Given the description of an element on the screen output the (x, y) to click on. 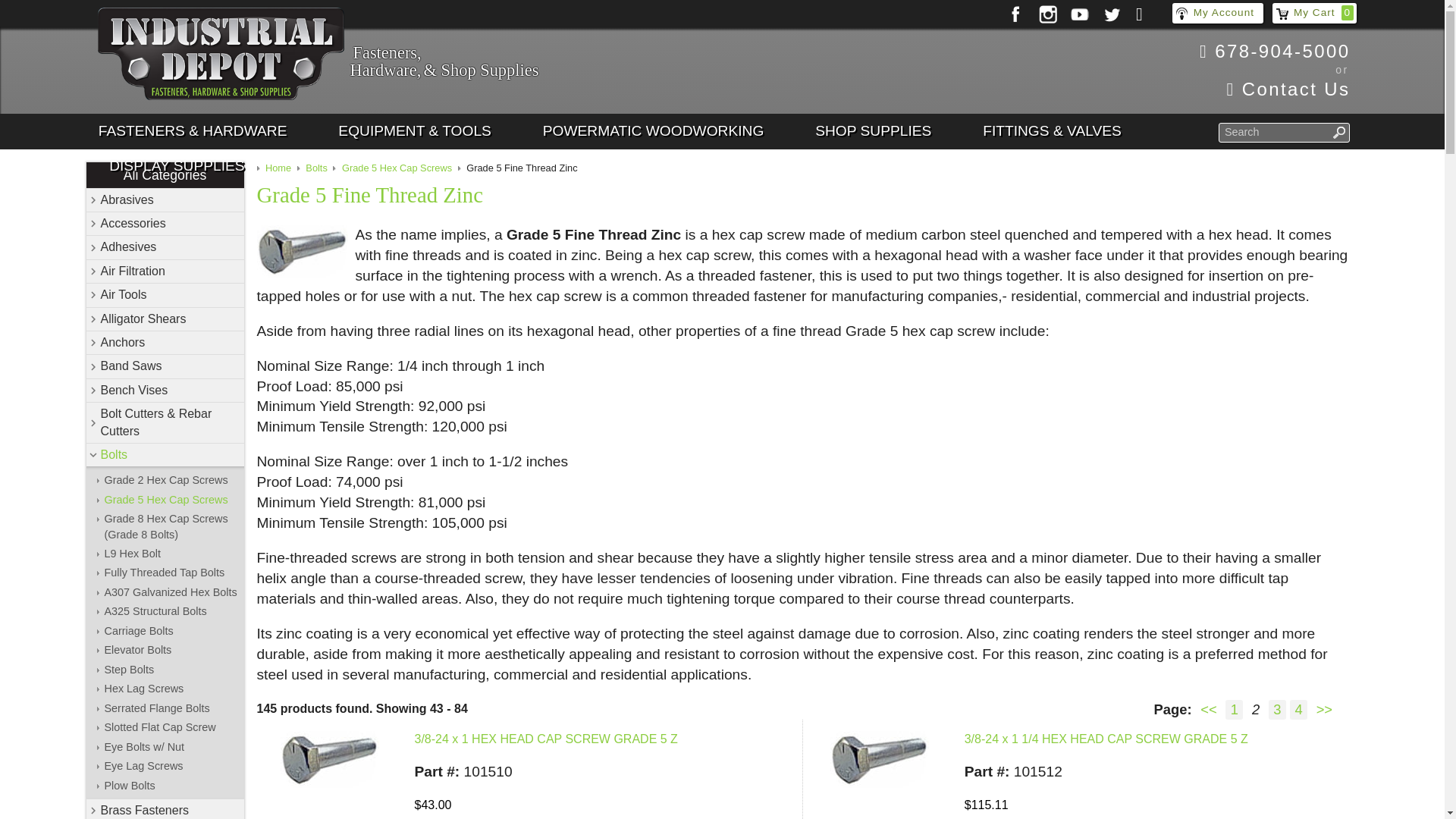
Contact Us (1275, 89)
My Account (1217, 13)
Call Us (1275, 51)
The Industrial Depot (220, 56)
My Account (1217, 13)
My Cart0 (1314, 13)
Send Us A Message (1275, 89)
My Cart (1314, 13)
678-904-5000 (1275, 51)
